Given the description of an element on the screen output the (x, y) to click on. 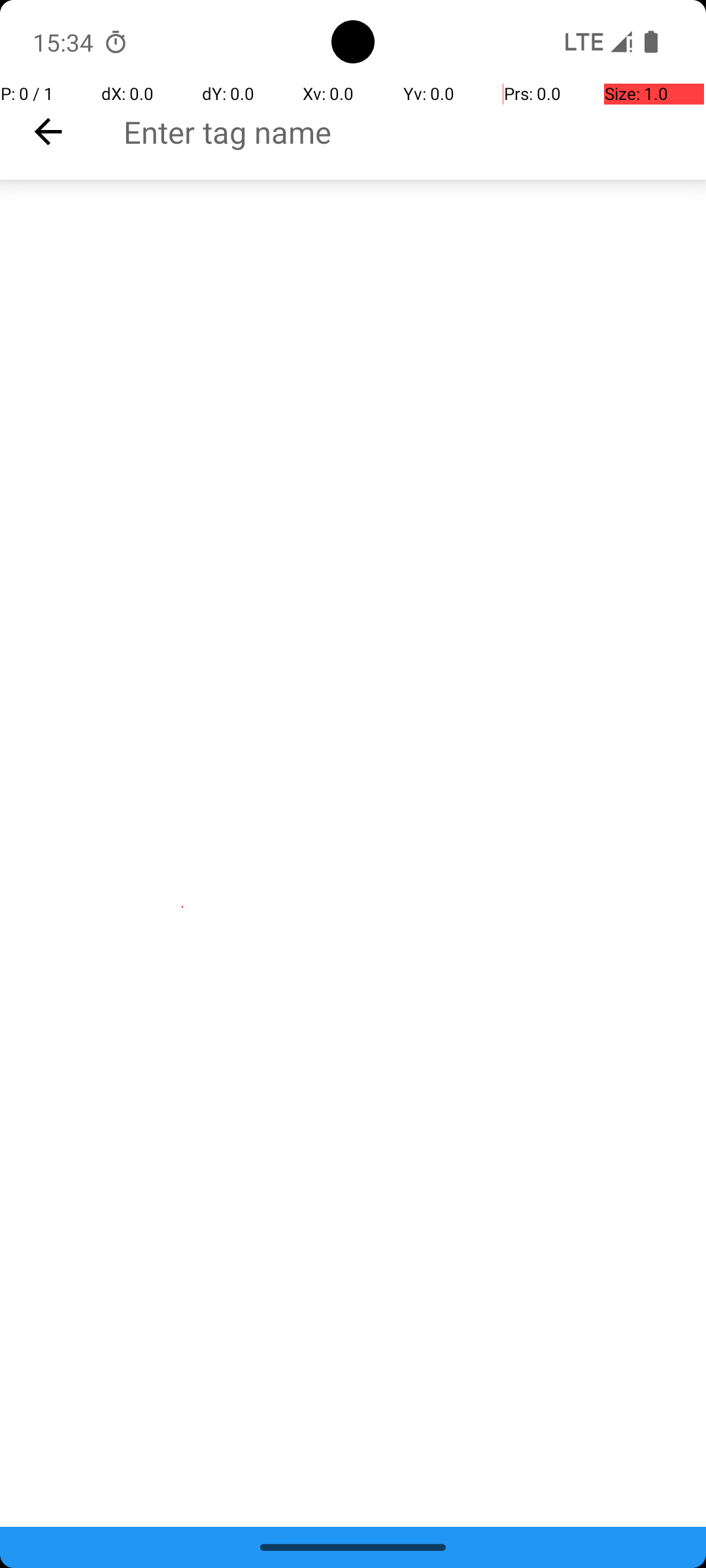
Enter tag name Element type: android.widget.EditText (414, 131)
